Given the description of an element on the screen output the (x, y) to click on. 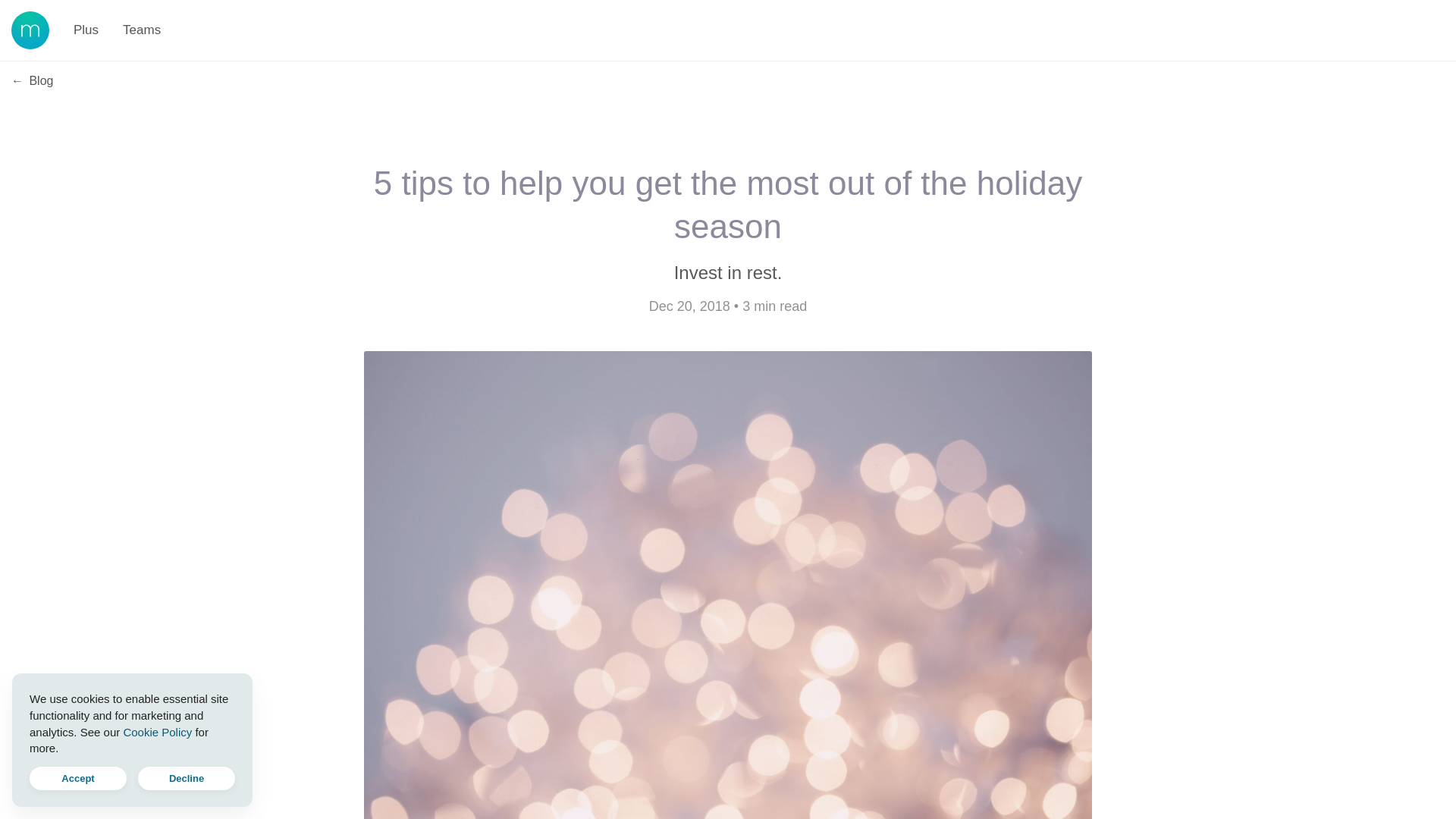
Cookie Policy (157, 731)
Decline (186, 778)
Plus (85, 30)
Accept (77, 778)
5 tips to help you get the most out of the holiday season (727, 204)
Teams (141, 30)
